Given the description of an element on the screen output the (x, y) to click on. 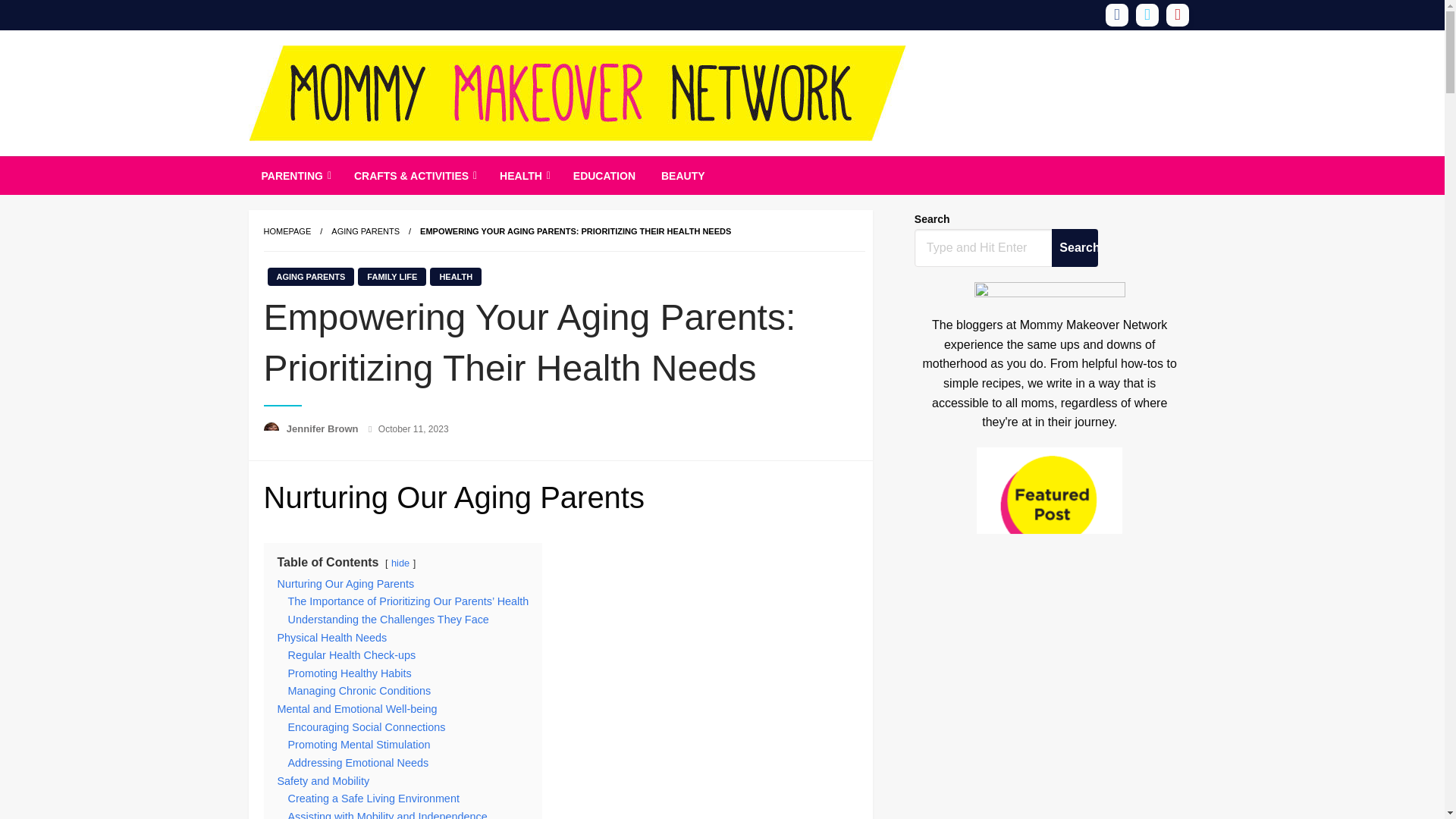
Understanding the Challenges They Face (388, 619)
HOMEPAGE (287, 230)
AGING PARENTS (364, 230)
BEAUTY (682, 175)
Regular Health Check-ups (352, 654)
Physical Health Needs (332, 637)
PARENTING (294, 175)
HEALTH (455, 276)
Aging Parents (364, 230)
hide (400, 562)
Jennifer Brown (323, 428)
AGING PARENTS (309, 276)
Mommy Makeover Network (432, 168)
MommyMakeover Network (1049, 709)
EDUCATION (603, 175)
